Given the description of an element on the screen output the (x, y) to click on. 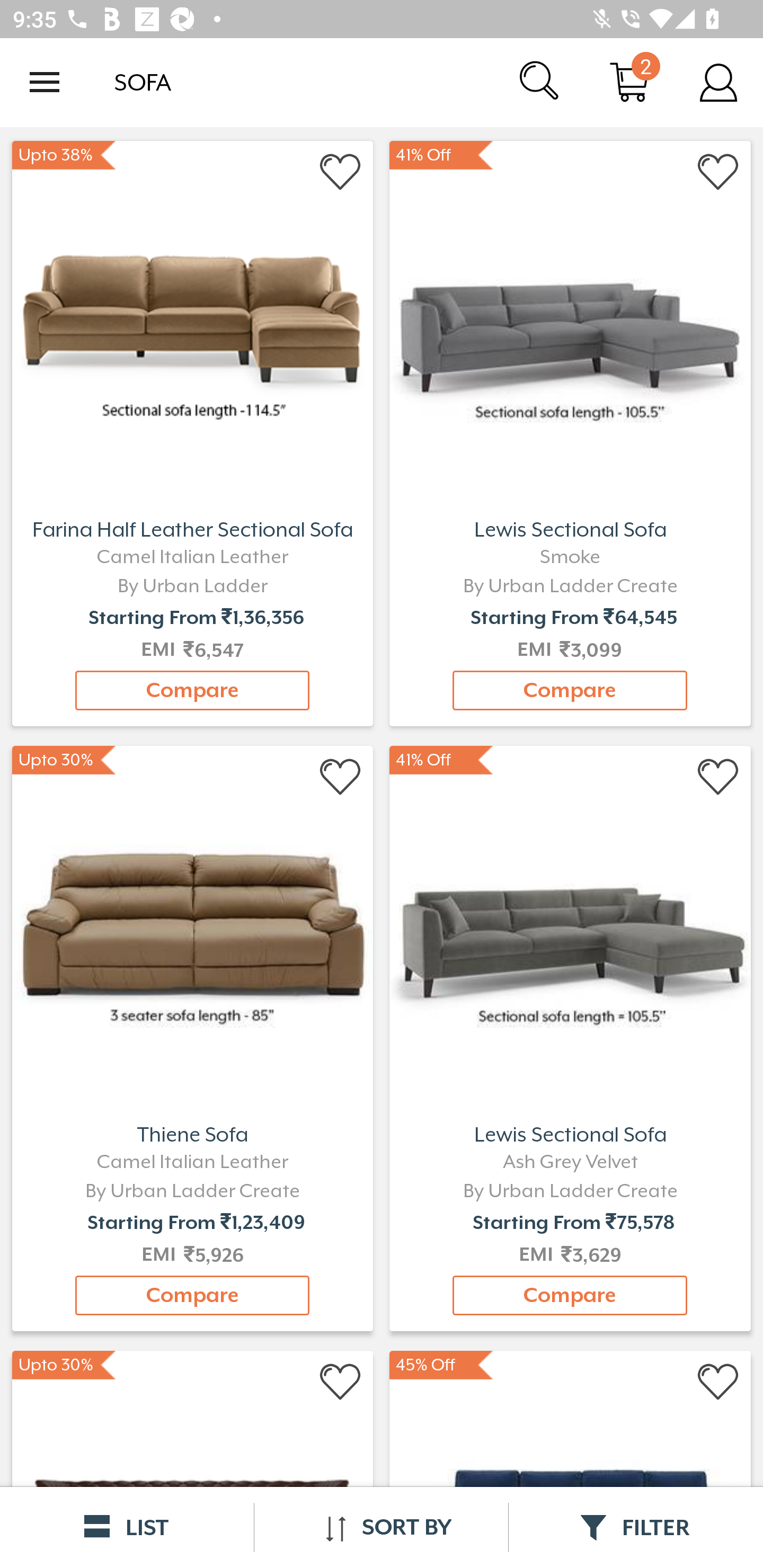
Open navigation drawer (44, 82)
Search (540, 81)
Cart (629, 81)
Account Details (718, 81)
 (341, 172)
 (718, 172)
Compare (192, 690)
Compare (569, 690)
 (341, 777)
 (718, 777)
Compare (192, 1295)
Compare (569, 1295)
 (341, 1382)
 (718, 1382)
 LIST (127, 1527)
SORT BY (381, 1527)
 FILTER (635, 1527)
